Given the description of an element on the screen output the (x, y) to click on. 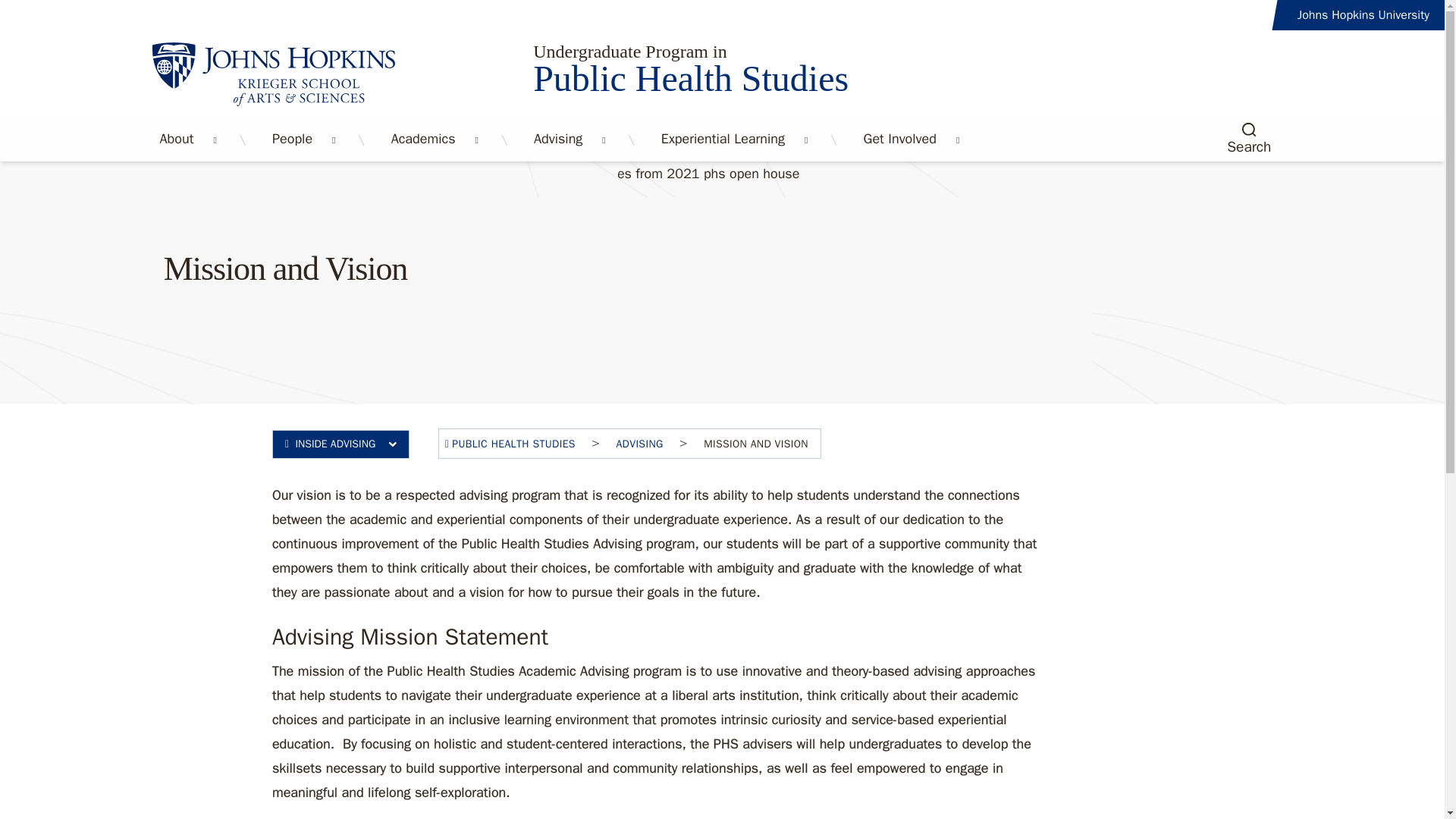
People (292, 139)
About (175, 139)
Go to Advising. (638, 443)
Get Involved (899, 139)
Johns Hopkins University (1363, 14)
Academics (423, 139)
Advising (557, 139)
Experiential Learning (722, 139)
Go to Public Health Studies. (510, 443)
Public Health Studies (918, 78)
